Given the description of an element on the screen output the (x, y) to click on. 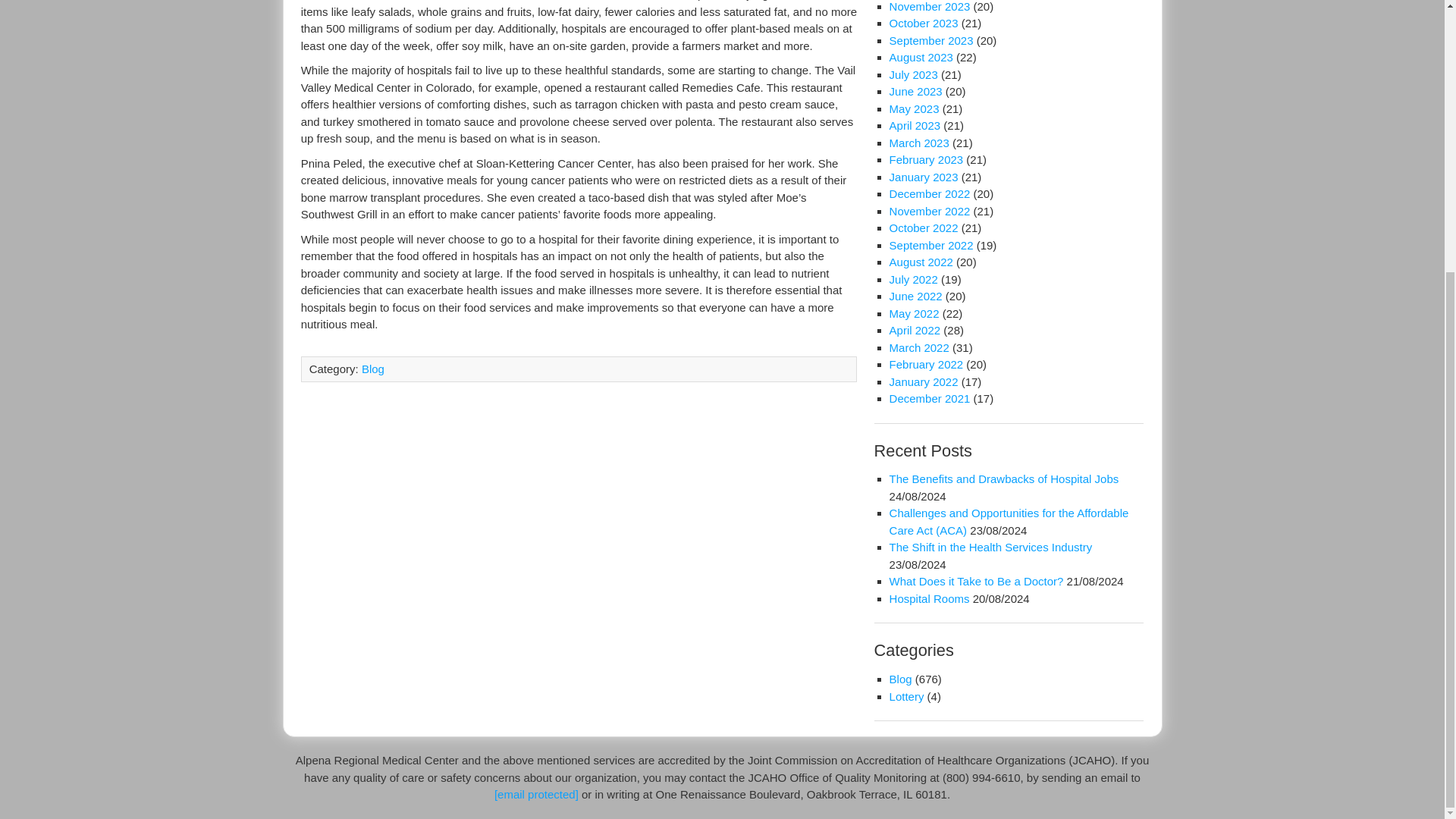
December 2022 (930, 193)
February 2023 (926, 159)
June 2023 (915, 91)
July 2023 (913, 74)
Blog (372, 368)
November 2023 (930, 6)
January 2023 (923, 176)
October 2023 (923, 22)
March 2023 (919, 142)
September 2023 (931, 40)
